Given the description of an element on the screen output the (x, y) to click on. 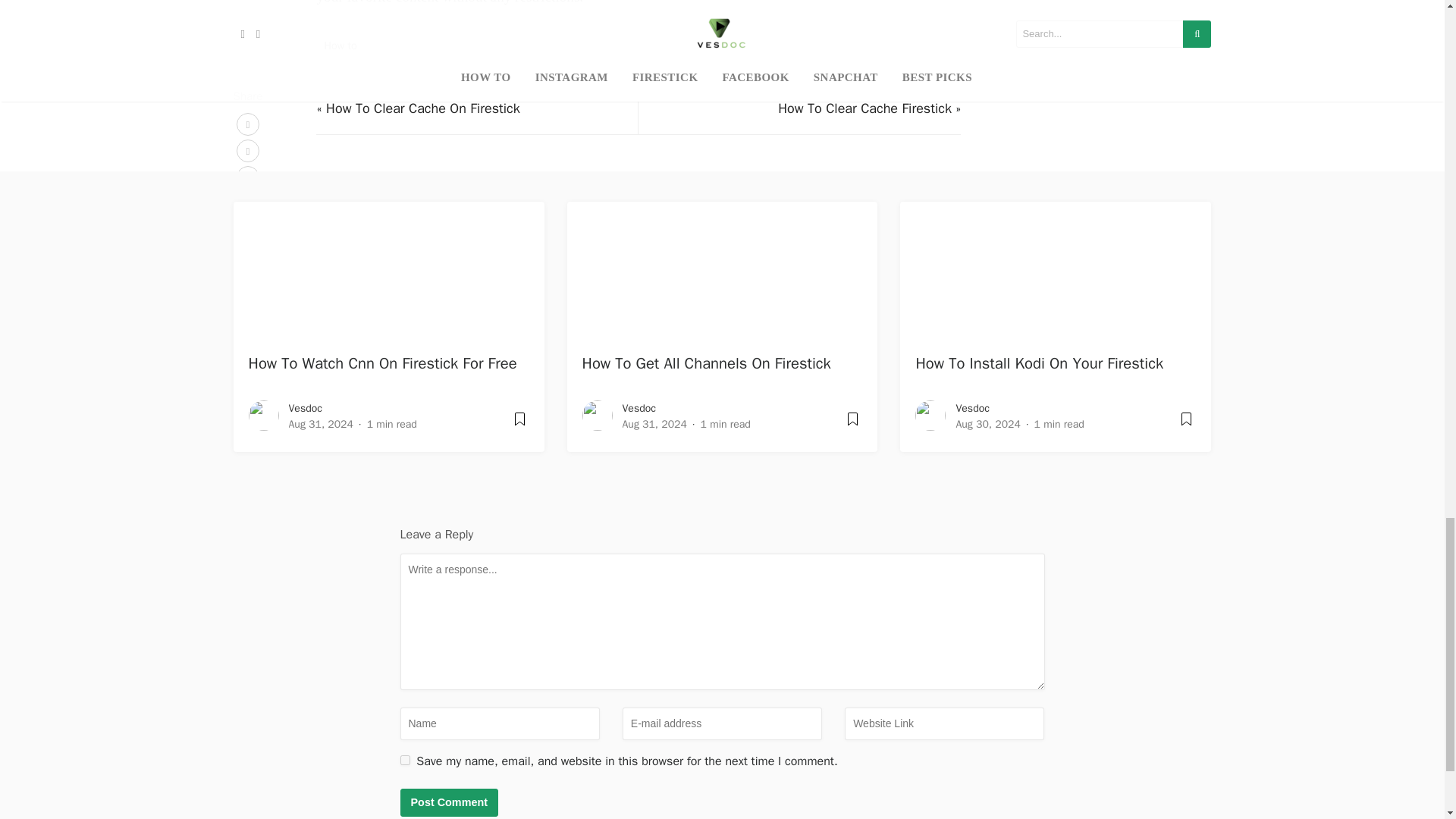
How To Watch Cnn On Firestick For Free (382, 362)
Vesdoc (304, 408)
How to (339, 46)
yes (405, 759)
How To Clear Cache On Firestick (422, 108)
How To Clear Cache Firestick (864, 108)
Post Comment (449, 802)
